Given the description of an element on the screen output the (x, y) to click on. 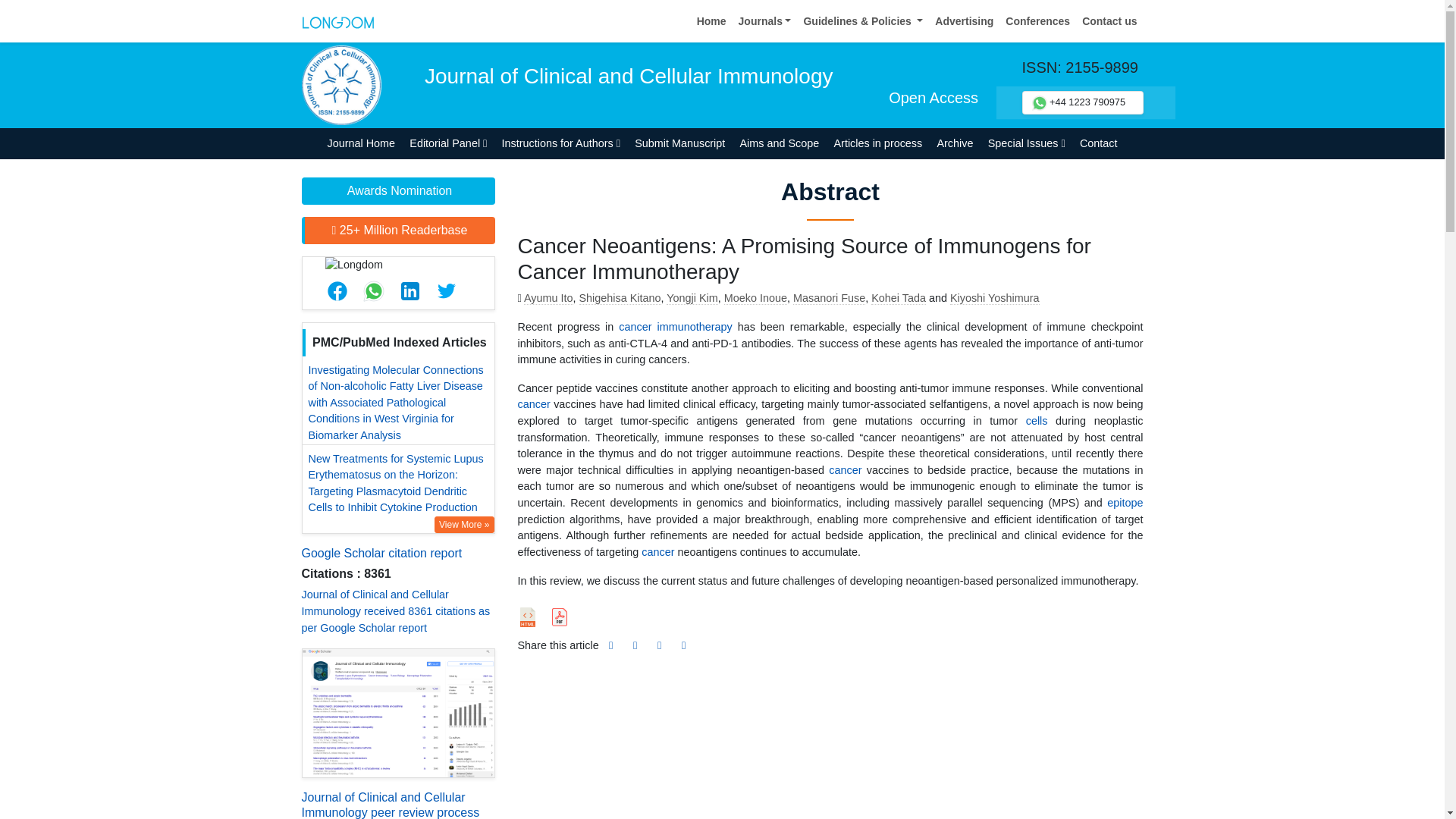
Advertising (963, 21)
Journal Home (361, 142)
Submit Manuscript (679, 142)
Advertising (963, 21)
Conferences (1036, 21)
Editorial Panel (449, 142)
Awards Nomination (398, 190)
Special Issues (1025, 142)
Contact us (1108, 21)
Journal Home (361, 142)
Instructions for Authors (561, 142)
Articles in process (878, 142)
Contact us (1108, 21)
Home (711, 21)
